Given the description of an element on the screen output the (x, y) to click on. 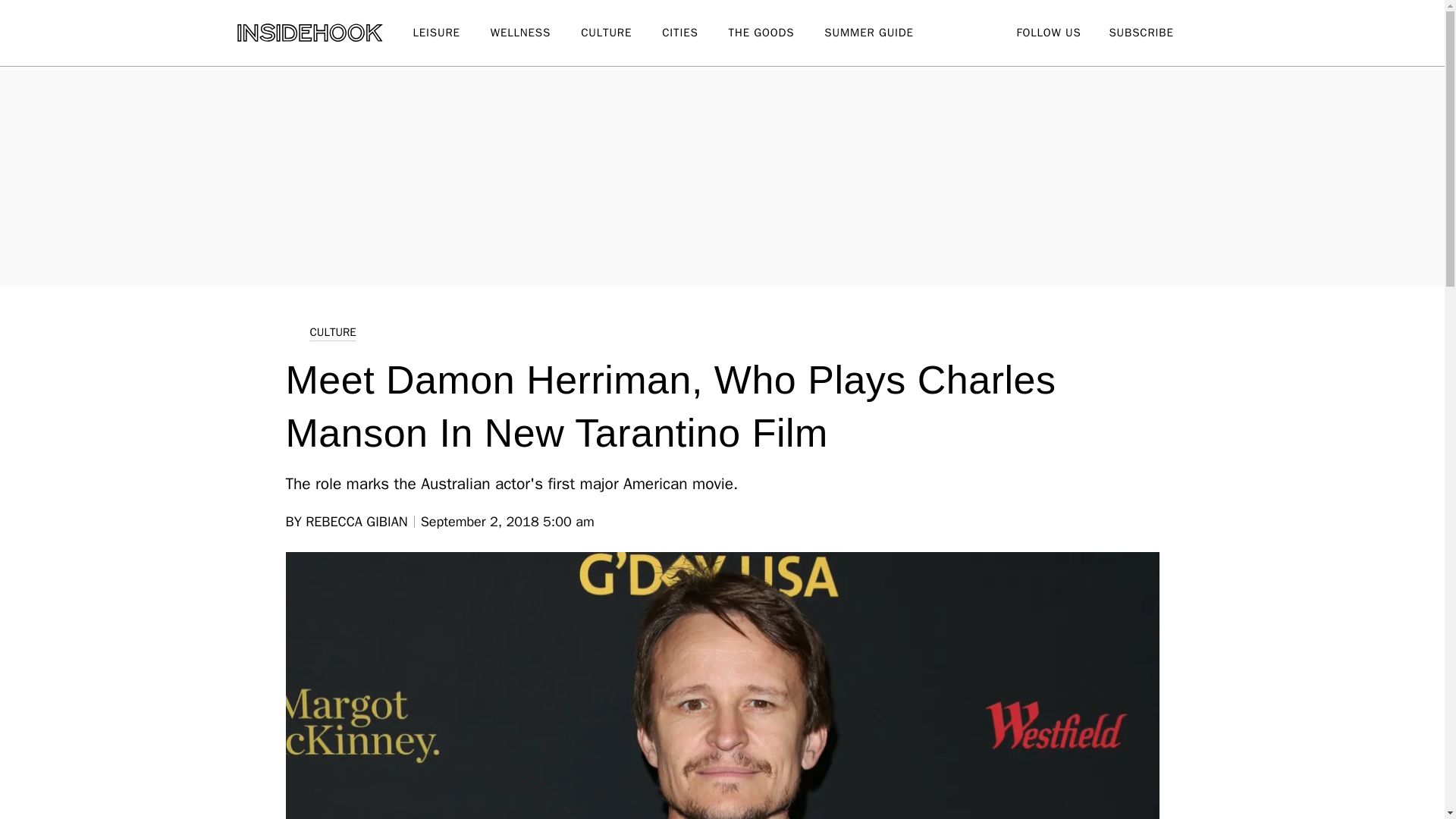
SUBSCRIBE (1140, 32)
THE GOODS (777, 32)
CITIES (695, 32)
WELLNESS (535, 32)
FOLLOW US (1048, 32)
CULTURE (621, 32)
LEISURE (450, 32)
SUMMER GUIDE (883, 32)
